Given the description of an element on the screen output the (x, y) to click on. 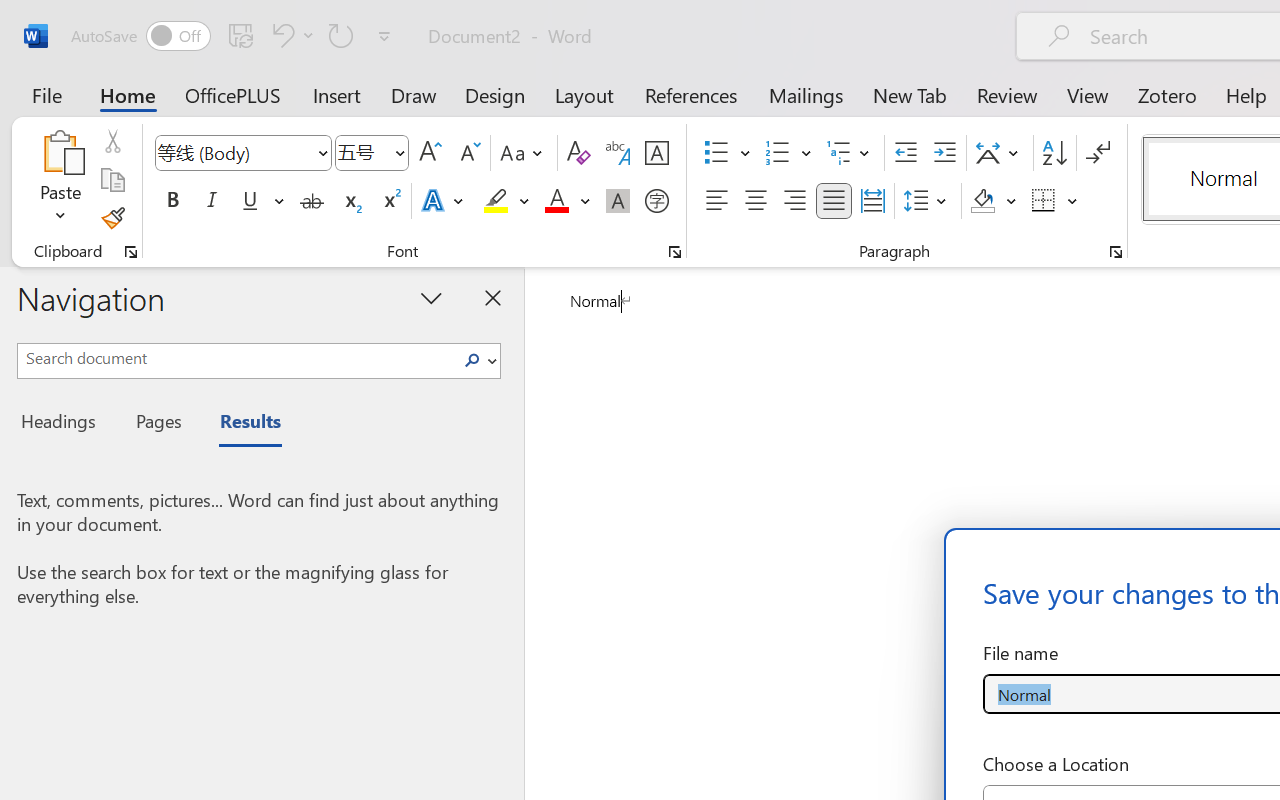
Cut (112, 141)
Character Border (656, 153)
Insert (337, 94)
Undo Apply Quick Style (280, 35)
Align Right (794, 201)
Repeat Style (341, 35)
Italic (212, 201)
Shading (993, 201)
Text Highlight Color (506, 201)
Sort... (1054, 153)
